Given the description of an element on the screen output the (x, y) to click on. 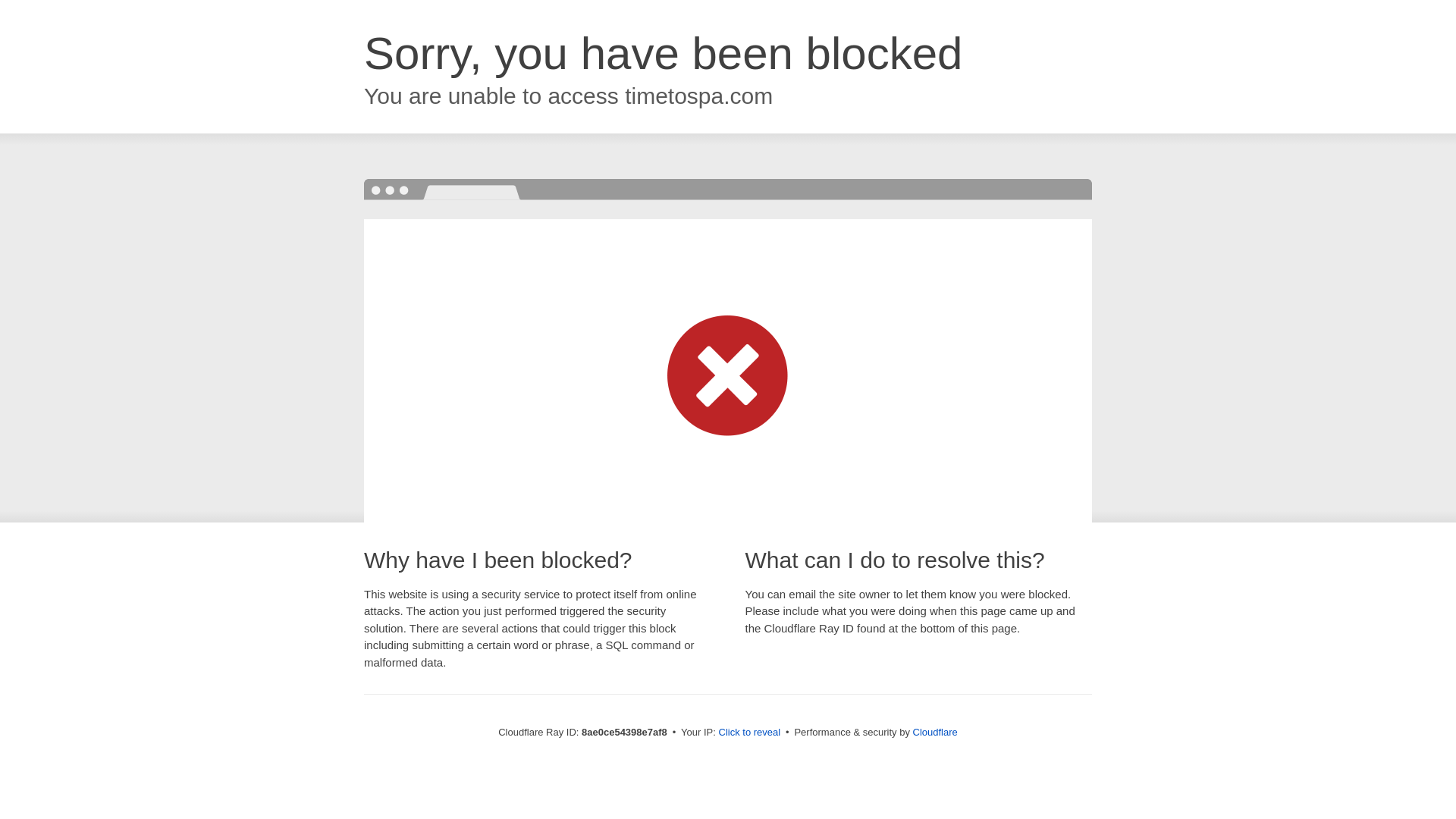
Click to reveal (749, 732)
Cloudflare (935, 731)
